Given the description of an element on the screen output the (x, y) to click on. 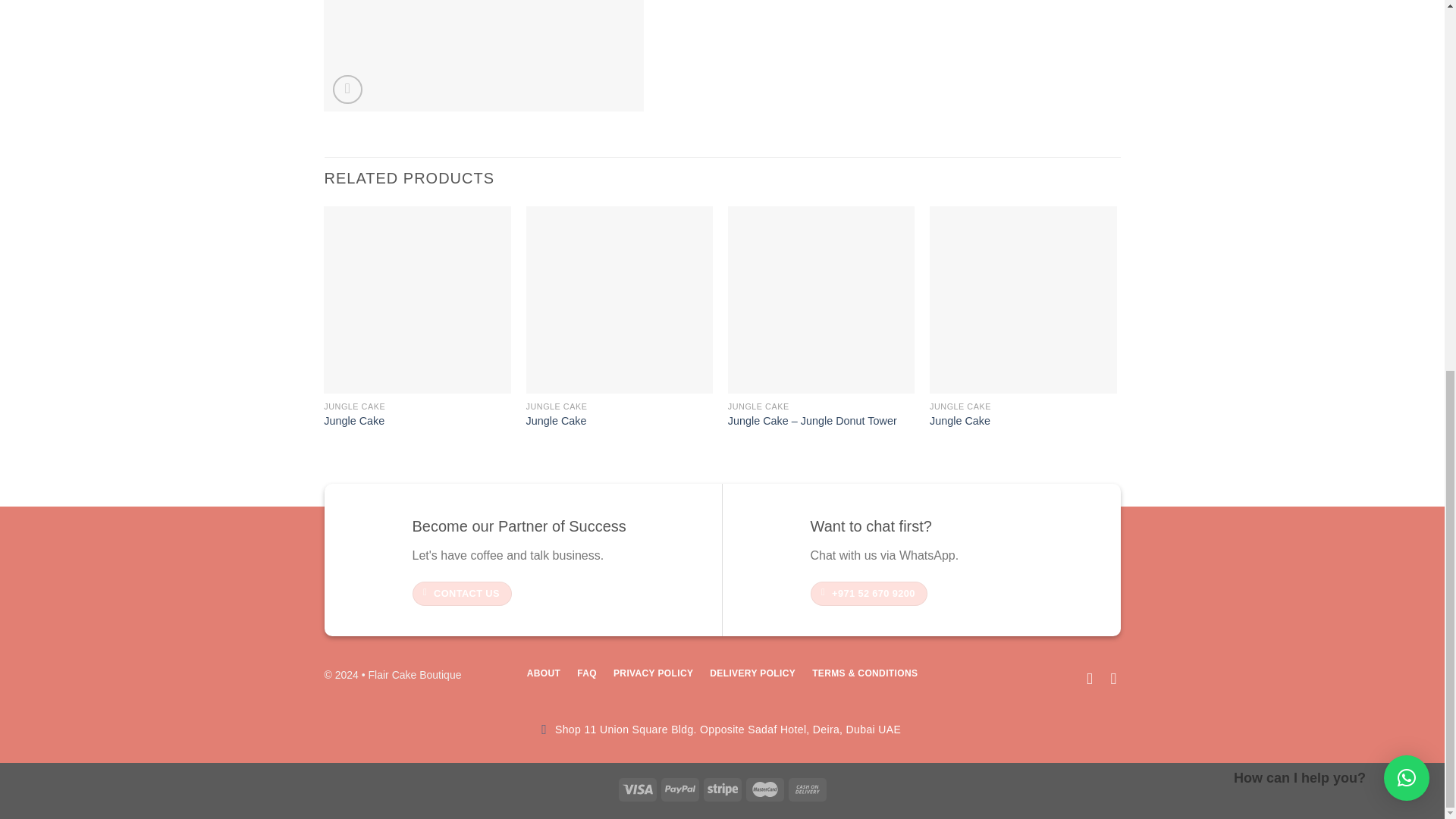
Follow on Instagram (1108, 678)
Follow on Facebook (1083, 678)
Zoom (347, 89)
IMG-20230625-WA0033 (483, 56)
